Given the description of an element on the screen output the (x, y) to click on. 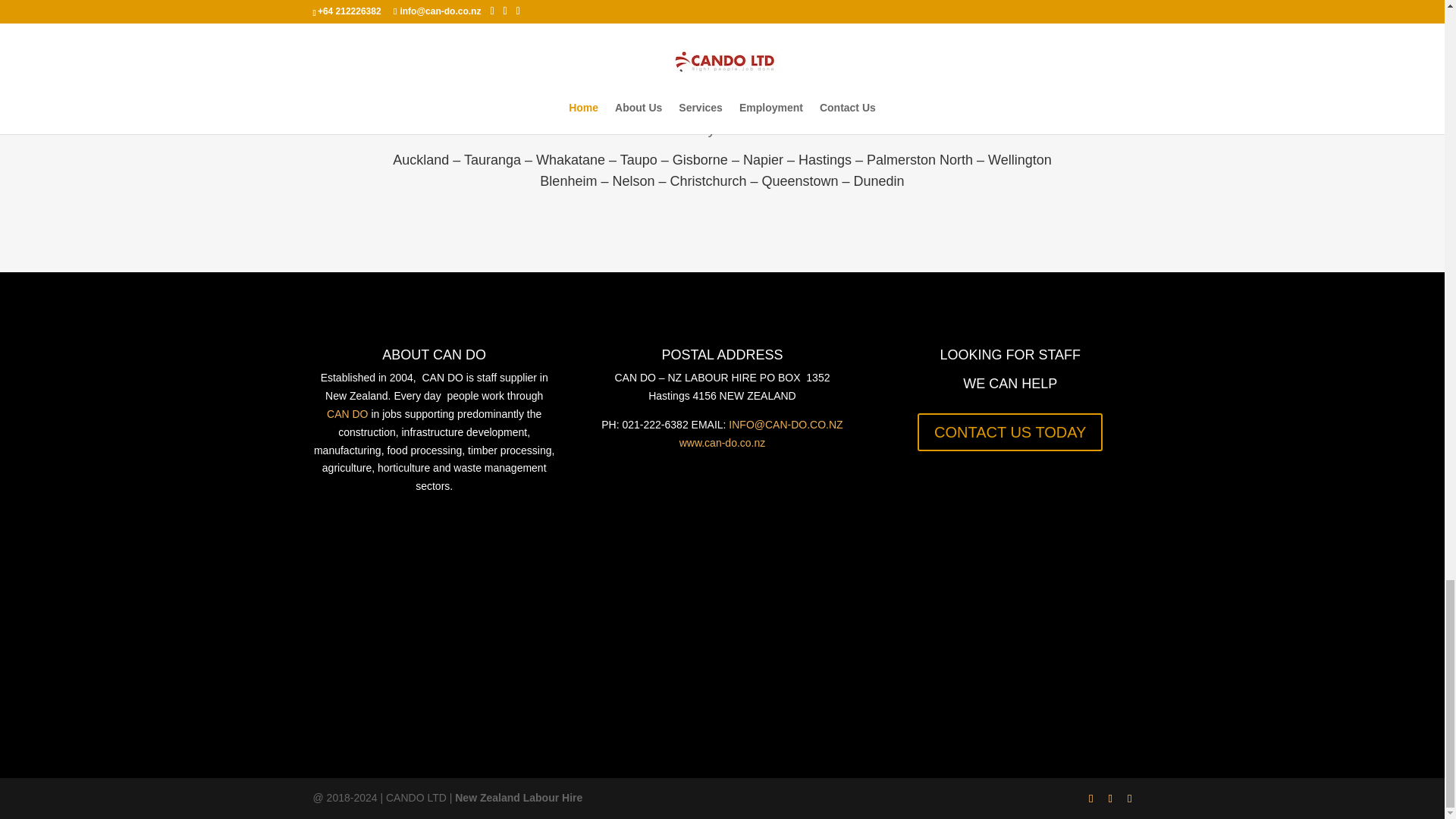
CAN DO (347, 413)
CONTACT US TODAY (1009, 432)
www.can-do.co.nz (722, 442)
